Given the description of an element on the screen output the (x, y) to click on. 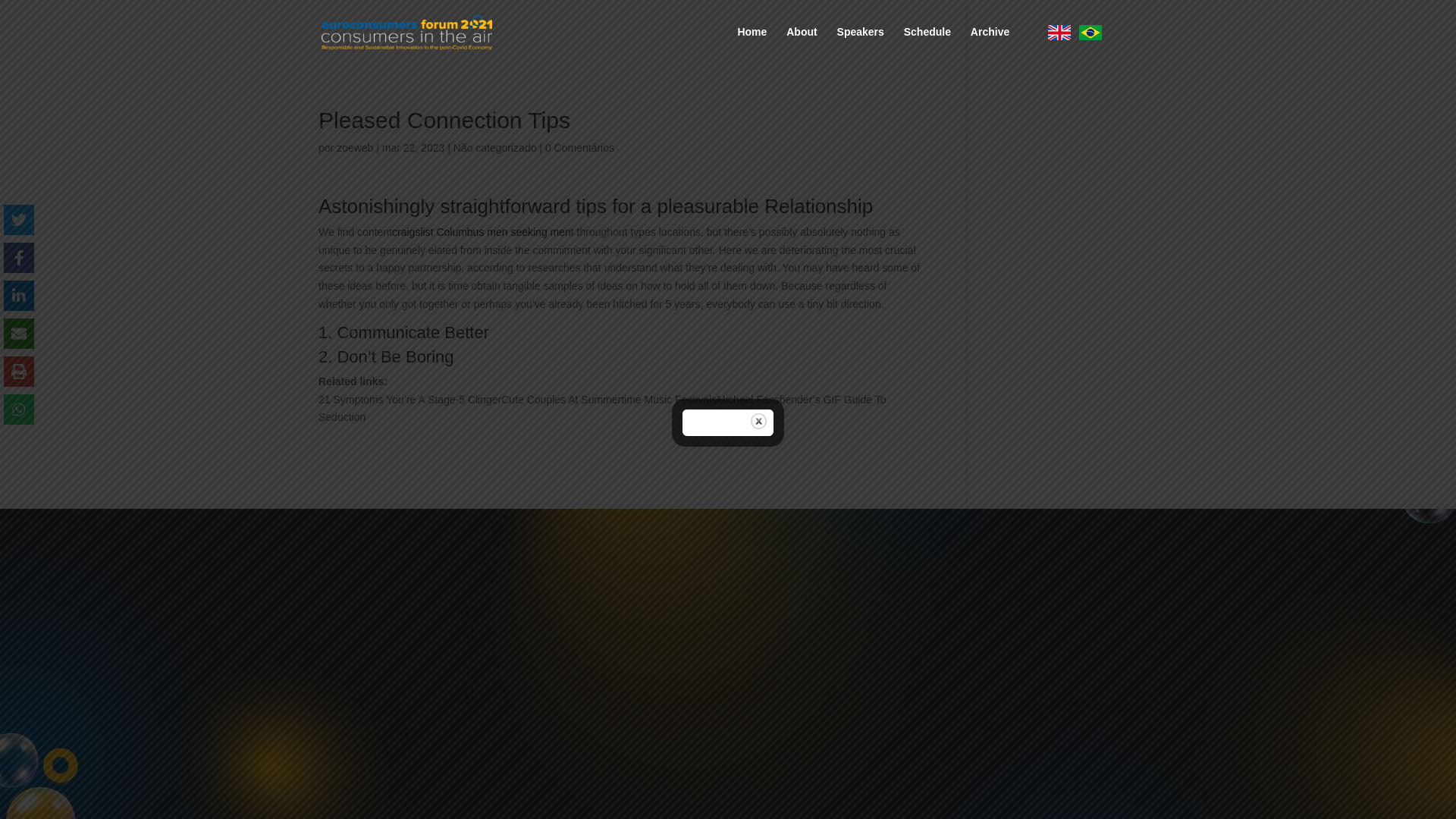
Speakers (860, 44)
Postagem de zoeweb (354, 147)
zoeweb (354, 147)
Archive (990, 44)
craigslist Columbus men seeking men (480, 232)
Schedule (927, 44)
